Given the description of an element on the screen output the (x, y) to click on. 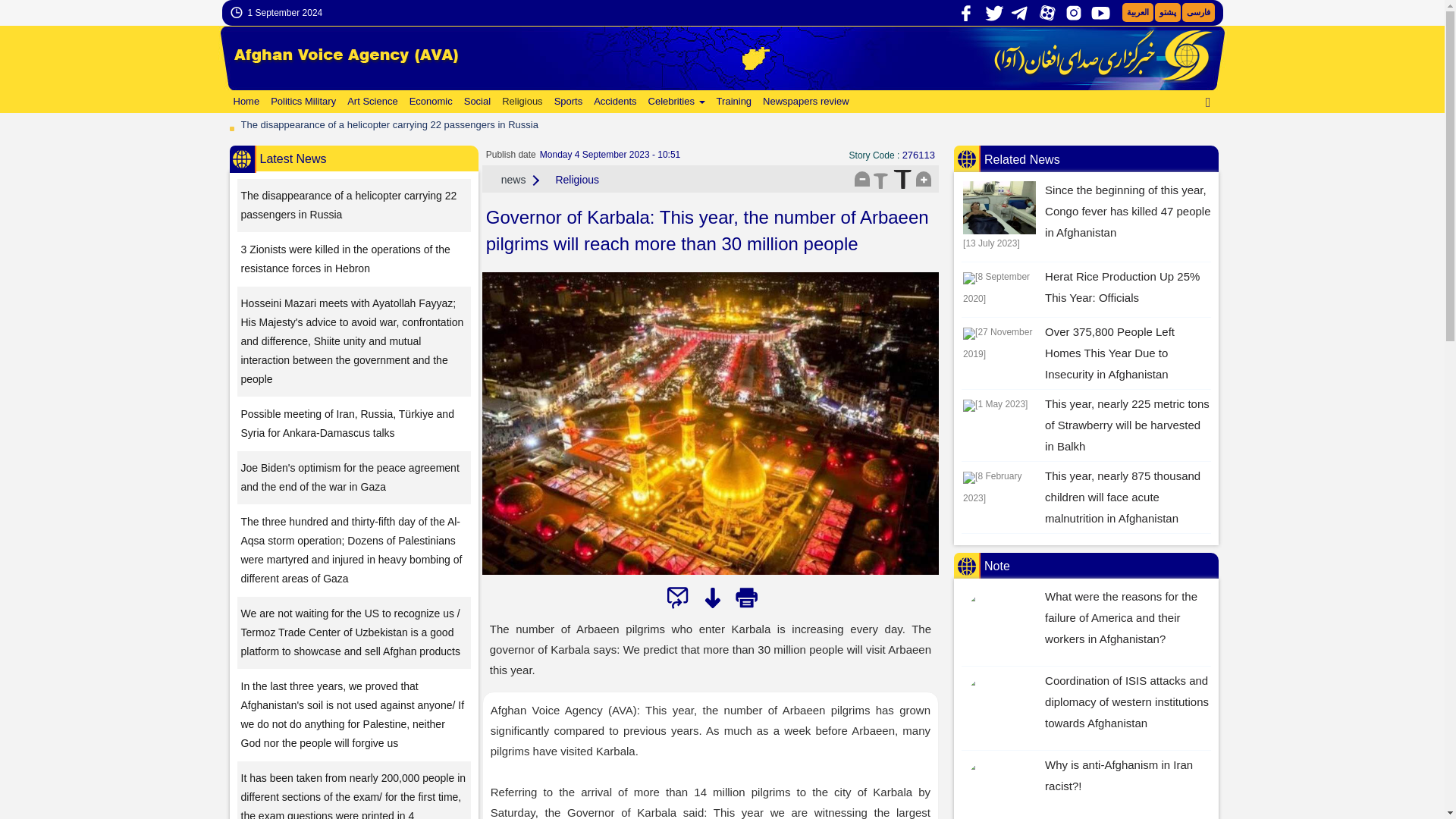
Print Edition (746, 597)
Social (476, 101)
Economic (429, 101)
Art Science (370, 101)
Downloading the File (711, 597)
Religious (520, 101)
Celebrities (674, 101)
Accidents (613, 101)
Home (244, 101)
